Given the description of an element on the screen output the (x, y) to click on. 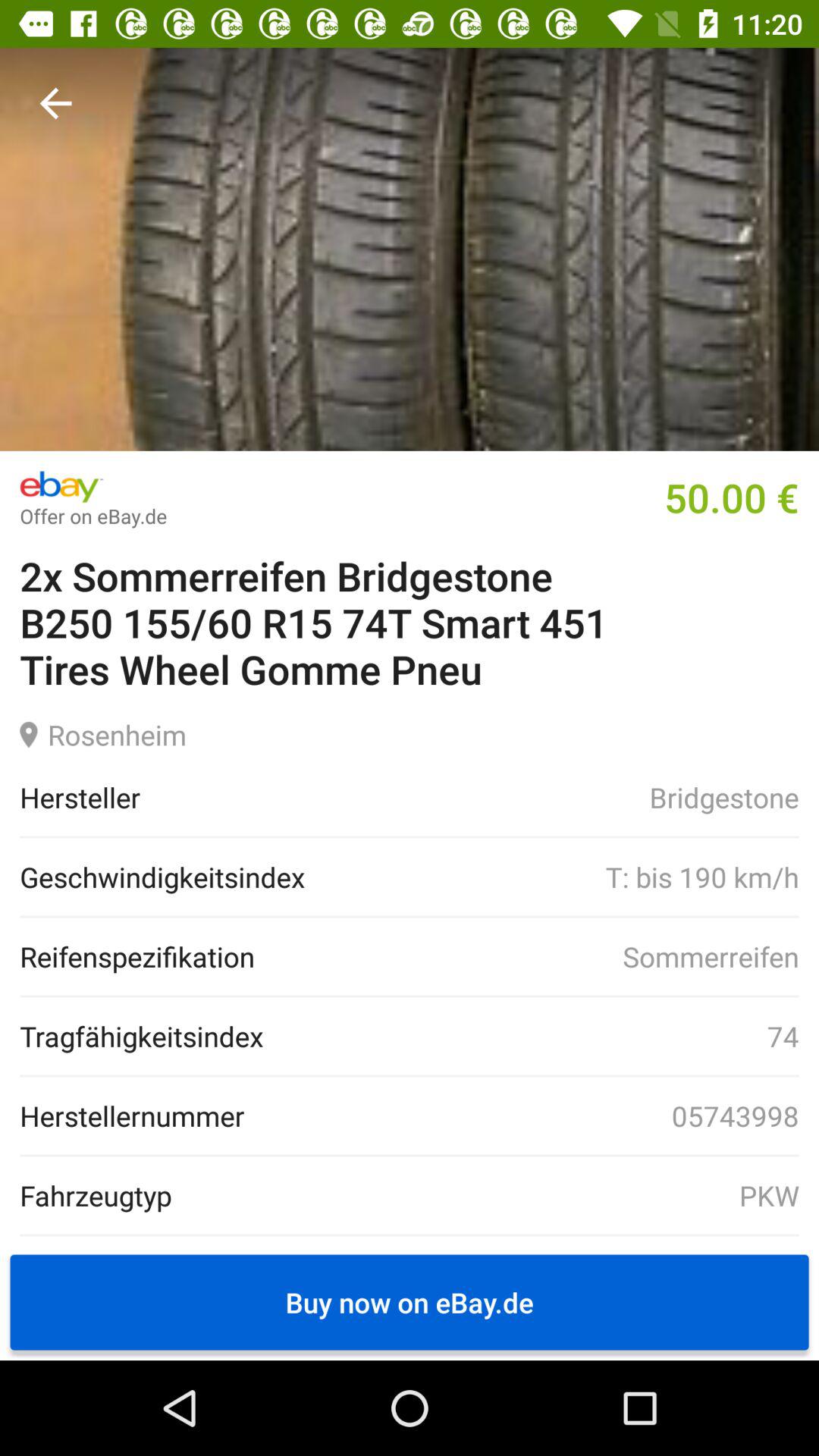
swipe to the t bis 190 item (551, 876)
